Given the description of an element on the screen output the (x, y) to click on. 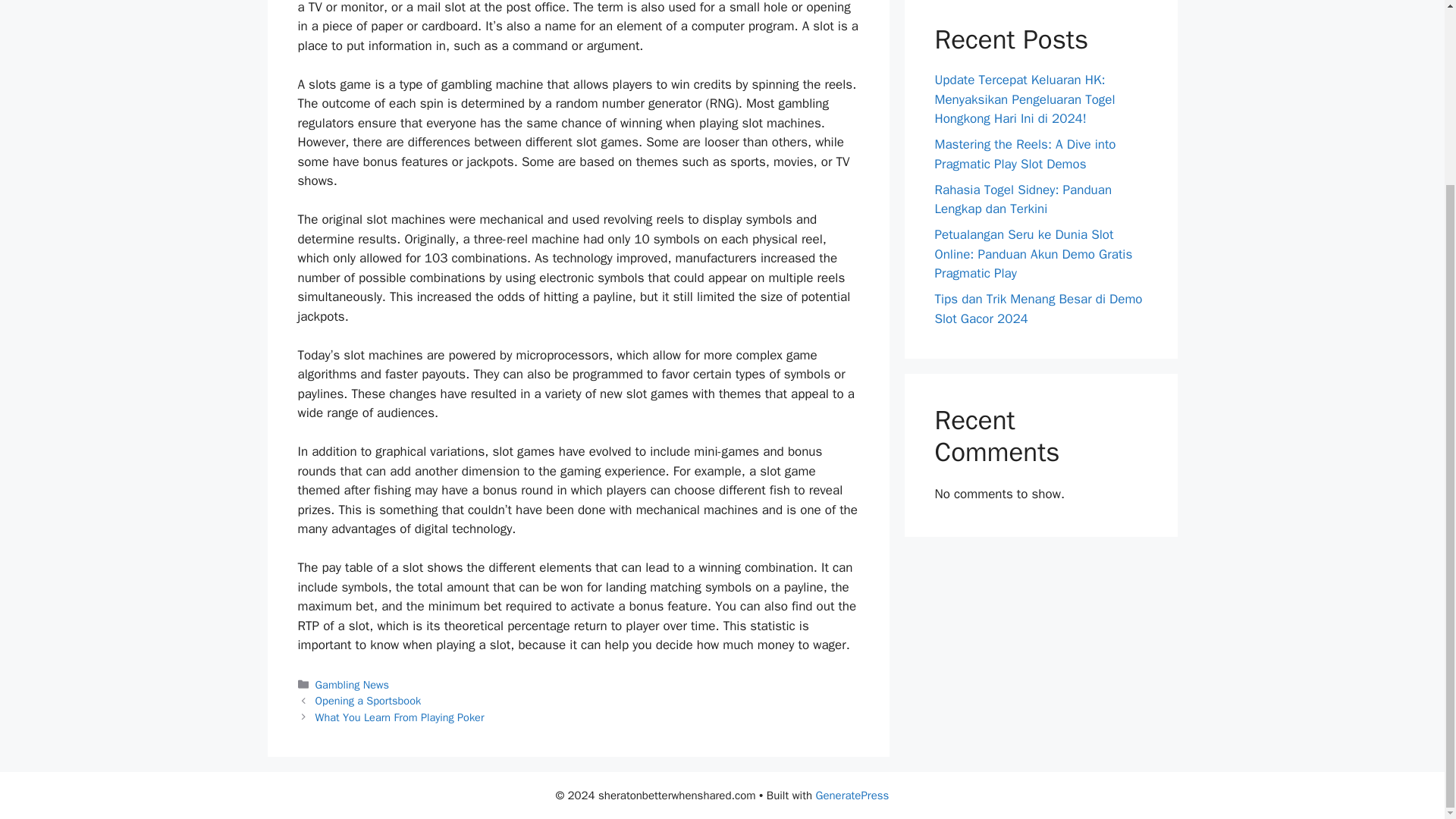
Tips dan Trik Menang Besar di Demo Slot Gacor 2024 (1037, 308)
What You Learn From Playing Poker (399, 716)
Opening a Sportsbook (368, 700)
Rahasia Togel Sidney: Panduan Lengkap dan Terkini (1023, 199)
Mastering the Reels: A Dive into Pragmatic Play Slot Demos (1024, 153)
Gambling News (351, 684)
GeneratePress (852, 795)
